Given the description of an element on the screen output the (x, y) to click on. 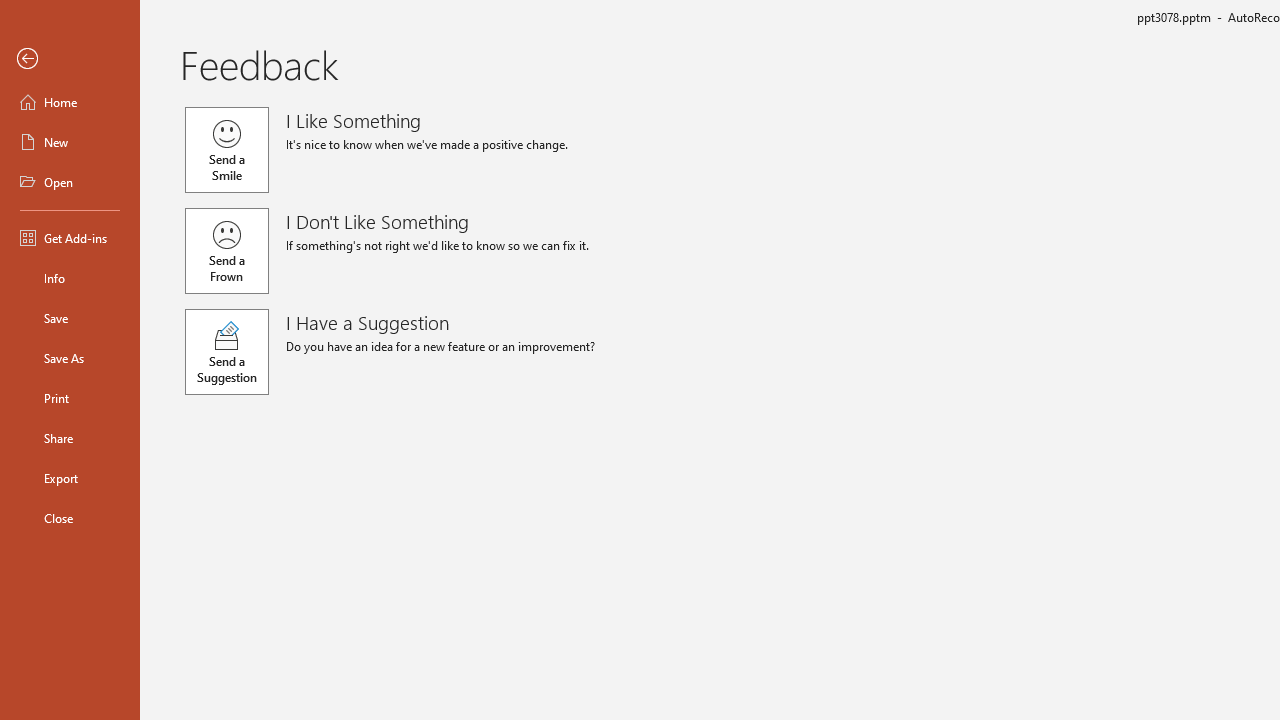
Info (69, 277)
Save As (69, 357)
